Given the description of an element on the screen output the (x, y) to click on. 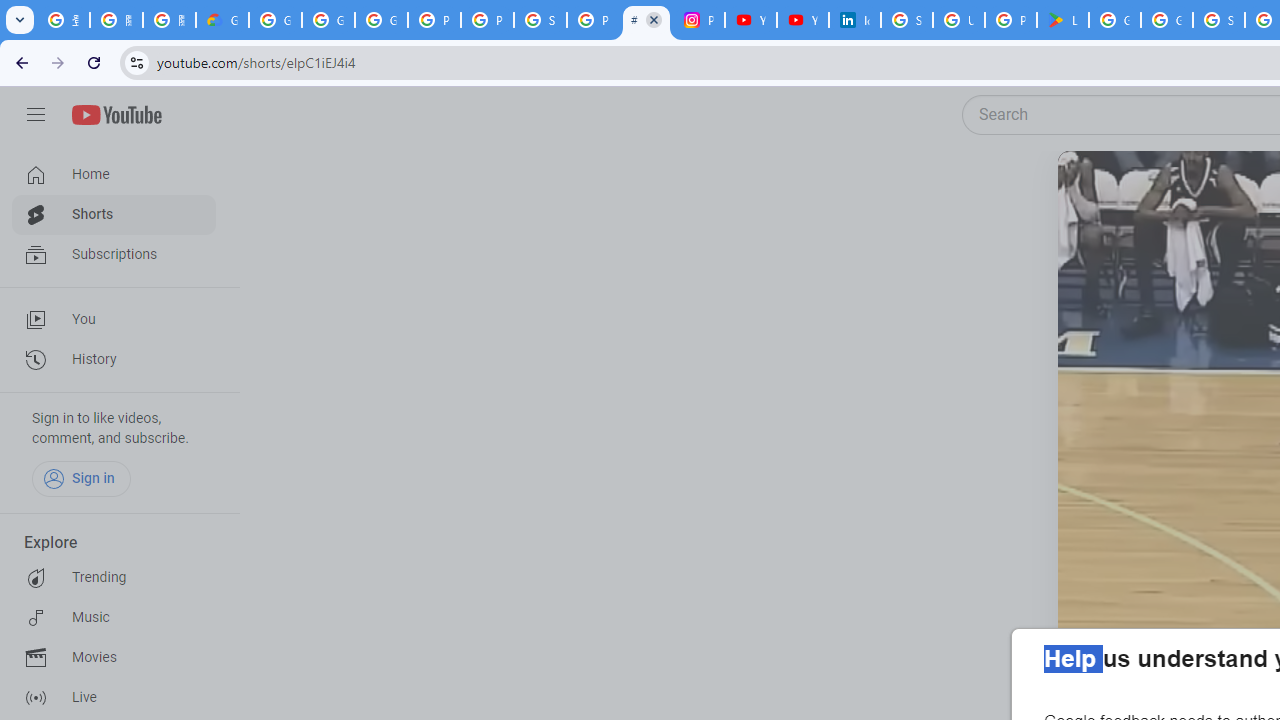
Last Shelter: Survival - Apps on Google Play (1062, 20)
Mute (1161, 191)
Mute (1154, 191)
Movies (113, 657)
Trending (113, 578)
Sign in - Google Accounts (906, 20)
